Given the description of an element on the screen output the (x, y) to click on. 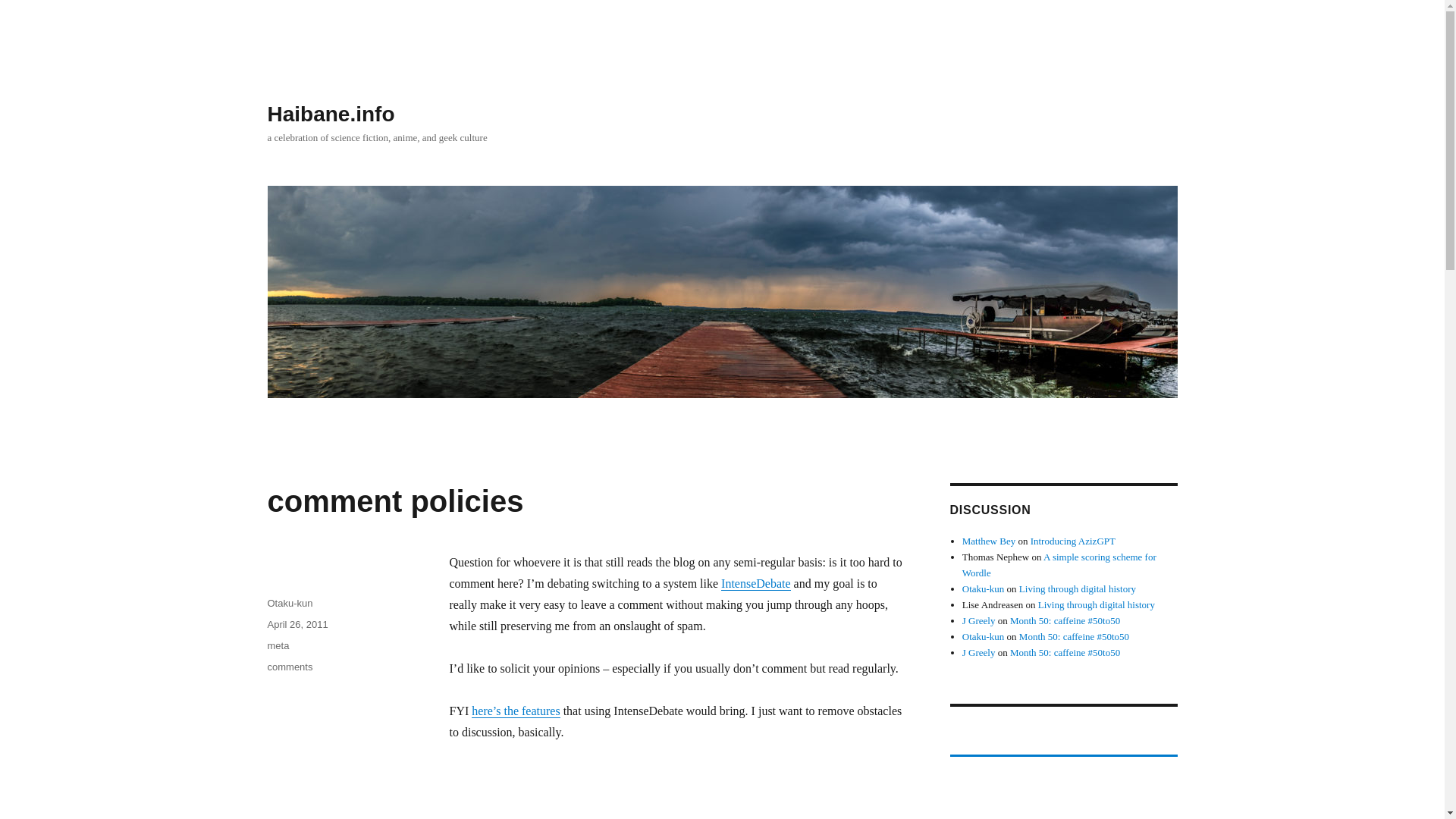
Living through digital history (1096, 604)
Otaku-kun (983, 636)
J Greely (978, 620)
Otaku-kun (289, 603)
A simple scoring scheme for Wordle (1059, 564)
Introducing AzizGPT (1072, 541)
Matthew Bey (988, 541)
Haibane.info (330, 114)
J Greely (978, 652)
April 26, 2011 (296, 624)
